Given the description of an element on the screen output the (x, y) to click on. 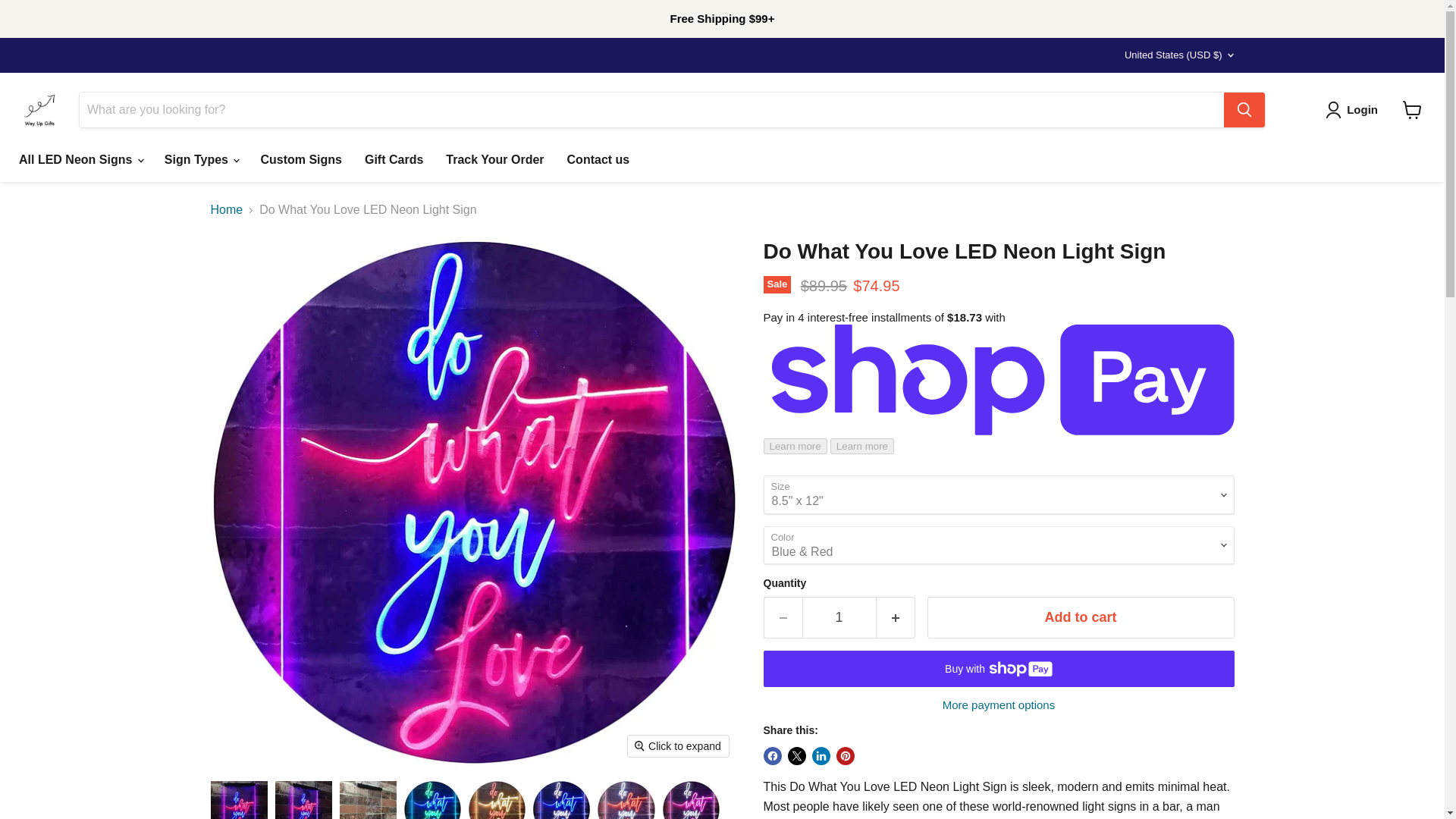
1 (839, 617)
